Given the description of an element on the screen output the (x, y) to click on. 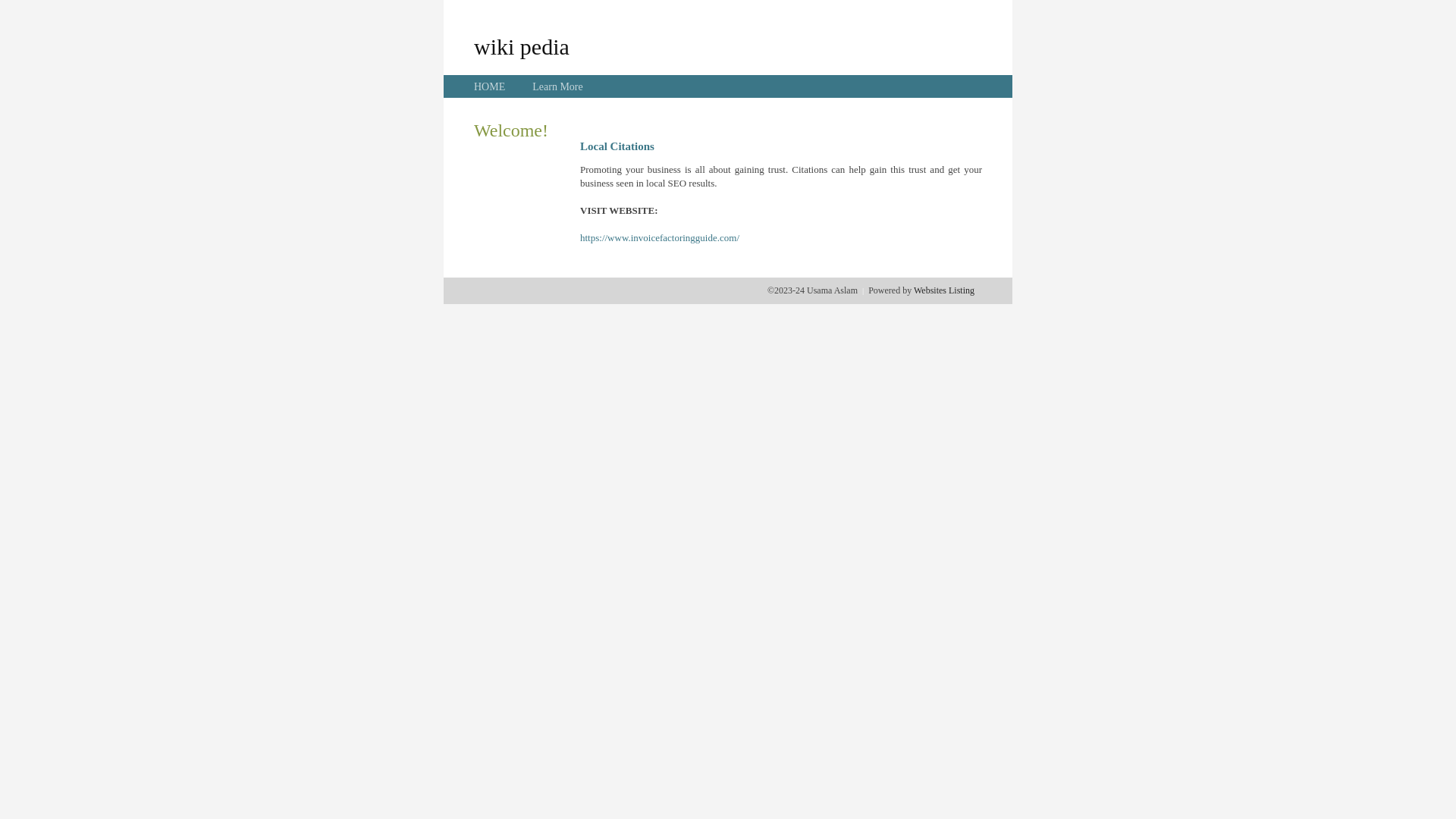
https://www.invoicefactoringguide.com/ Element type: text (659, 237)
wiki pedia Element type: text (521, 46)
HOME Element type: text (489, 86)
Websites Listing Element type: text (943, 290)
Learn More Element type: text (557, 86)
